Given the description of an element on the screen output the (x, y) to click on. 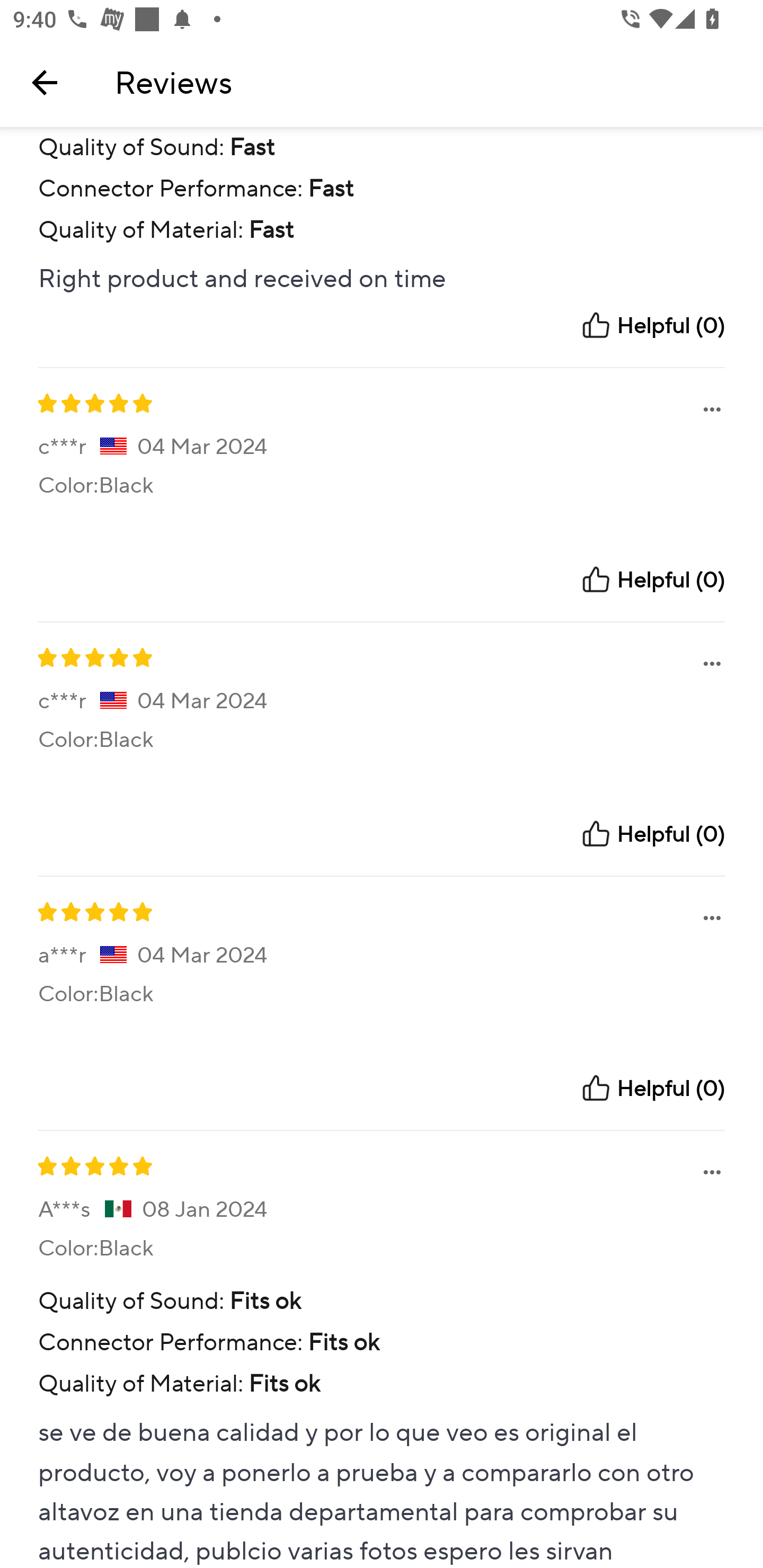
Navigate up (44, 82)
Helpful (0) (651, 324)
Helpful (0) (651, 578)
Helpful (0) (651, 833)
Helpful (0) (651, 1087)
